Given the description of an element on the screen output the (x, y) to click on. 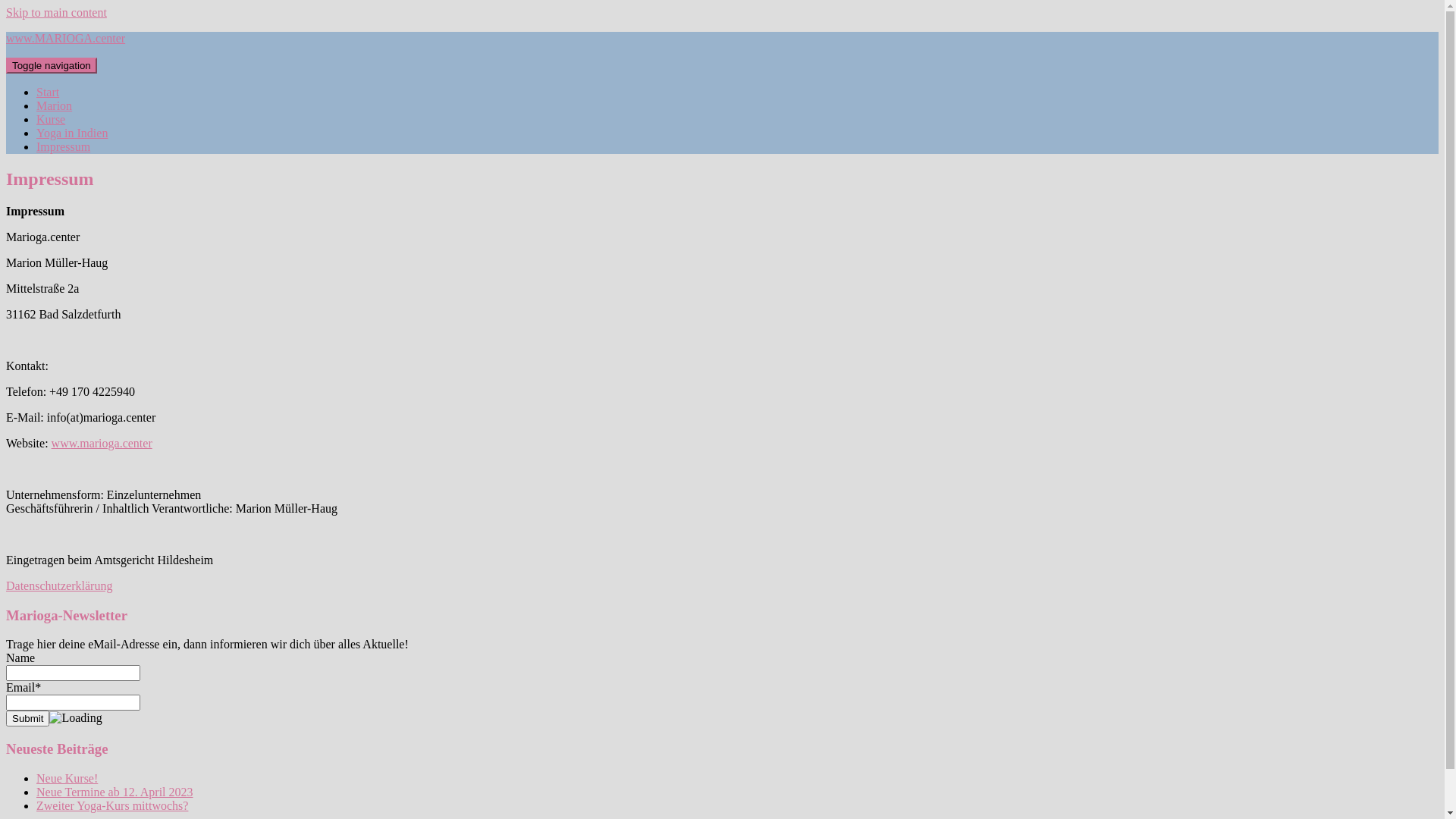
Neue Termine ab 12. April 2023 Element type: text (114, 791)
Start Element type: text (47, 91)
Submit Element type: text (27, 718)
Marion Element type: text (54, 105)
Toggle navigation Element type: text (51, 65)
www.MARIOGA.center Element type: text (65, 37)
Impressum Element type: text (63, 146)
Kurse Element type: text (50, 118)
Zweiter Yoga-Kurs mittwochs? Element type: text (112, 805)
Neue Kurse! Element type: text (66, 777)
www.marioga.center Element type: text (101, 442)
Skip to main content Element type: text (56, 12)
Yoga in Indien Element type: text (71, 132)
